Given the description of an element on the screen output the (x, y) to click on. 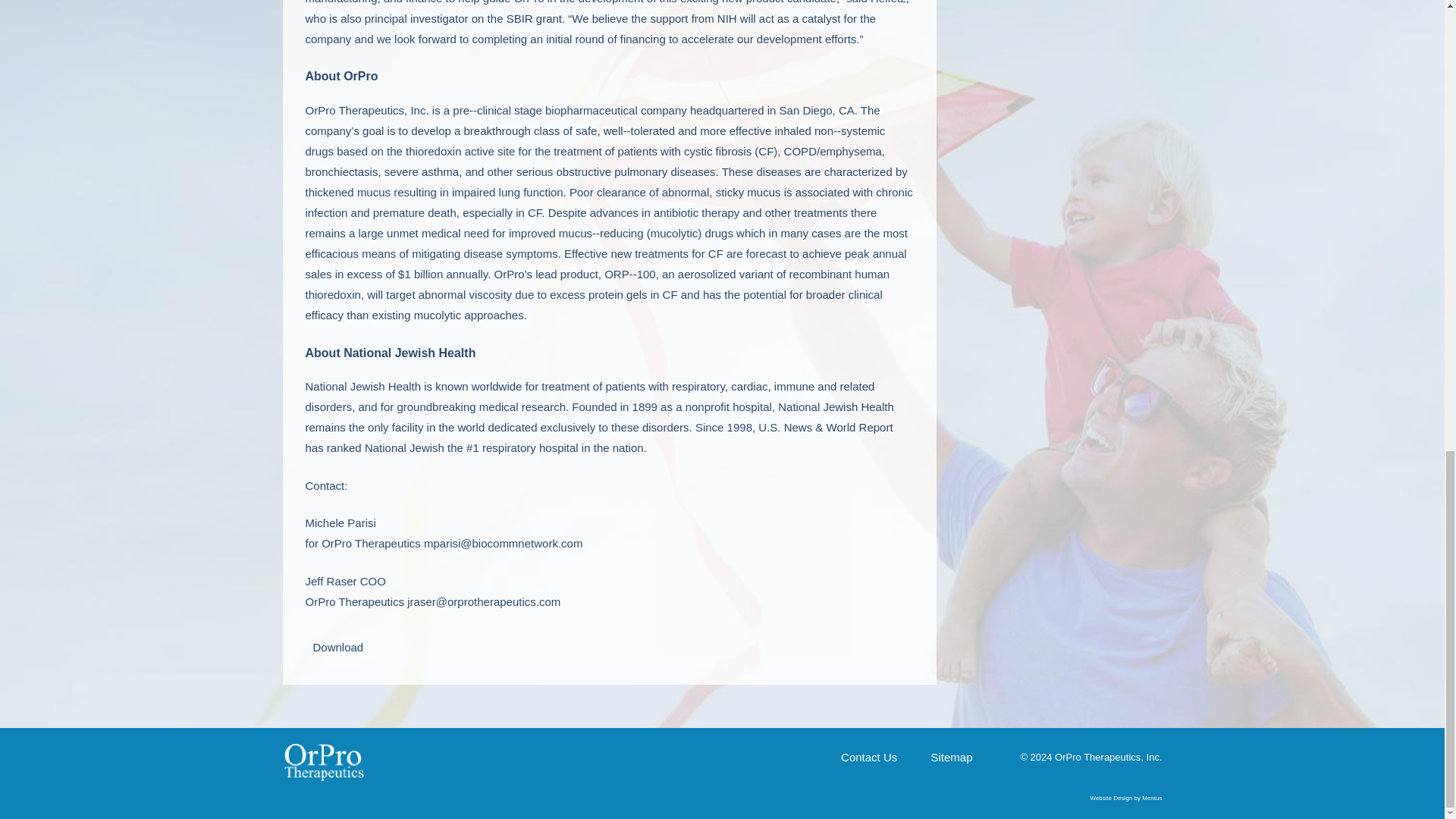
Sitemap (951, 757)
Download PDF (333, 646)
OrPro Therapeutics, Inc. (323, 761)
Download (333, 646)
Contact Us (868, 757)
Website Design by Mentus (1125, 798)
